Given the description of an element on the screen output the (x, y) to click on. 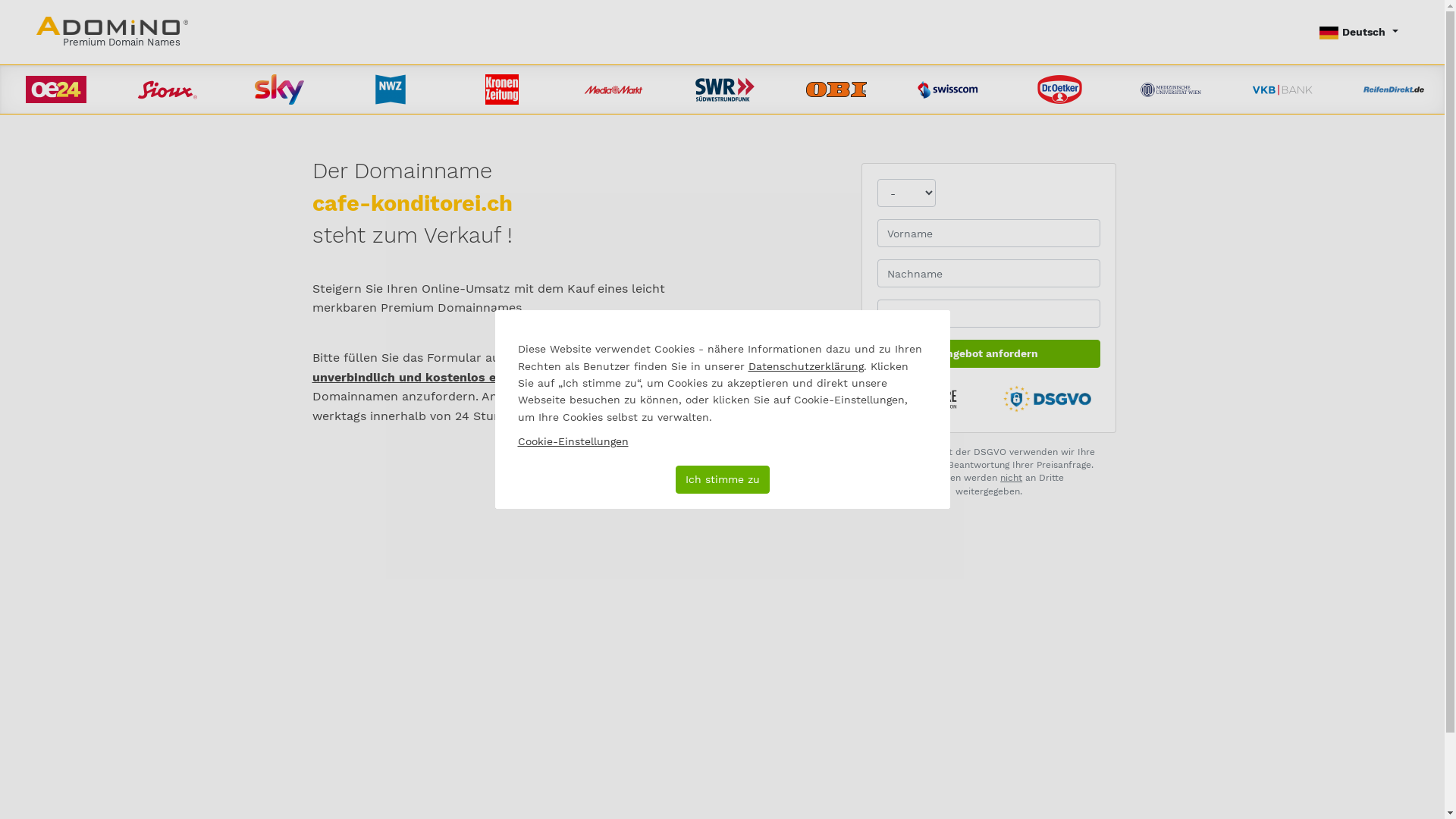
Angebot anfordern Element type: text (989, 353)
Cookie-Einstellungen Element type: text (572, 441)
Premium Domain Names Element type: text (112, 31)
Deutsch Element type: text (1358, 32)
Ich stimme zu Element type: text (721, 479)
